Given the description of an element on the screen output the (x, y) to click on. 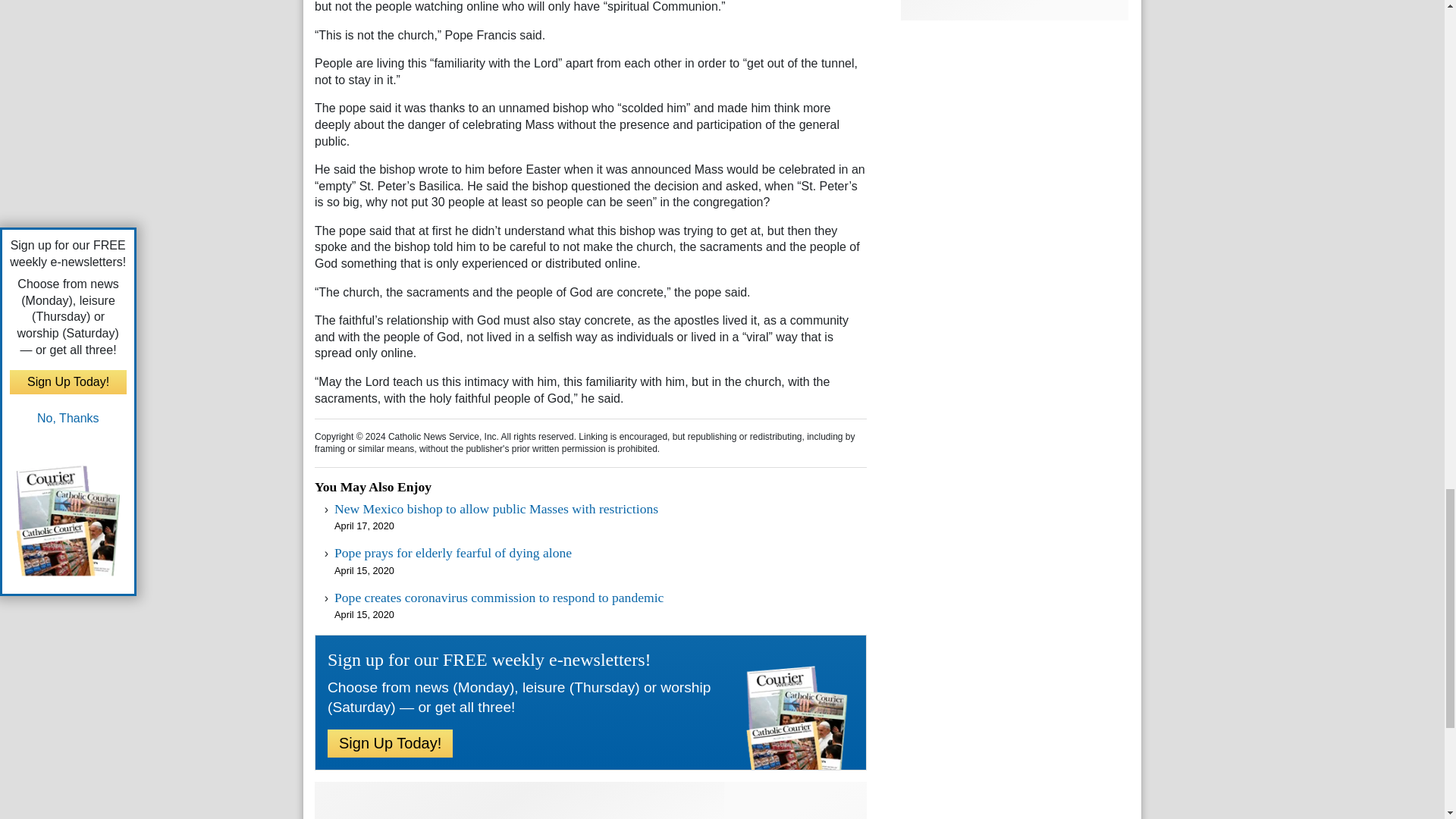
Pope prays for elderly fearful of dying alone (453, 552)
Pope creates coronavirus commission to respond to pandemic (498, 597)
New Mexico bishop to allow public Masses with restrictions (496, 508)
3rd party ad content (590, 800)
